Given the description of an element on the screen output the (x, y) to click on. 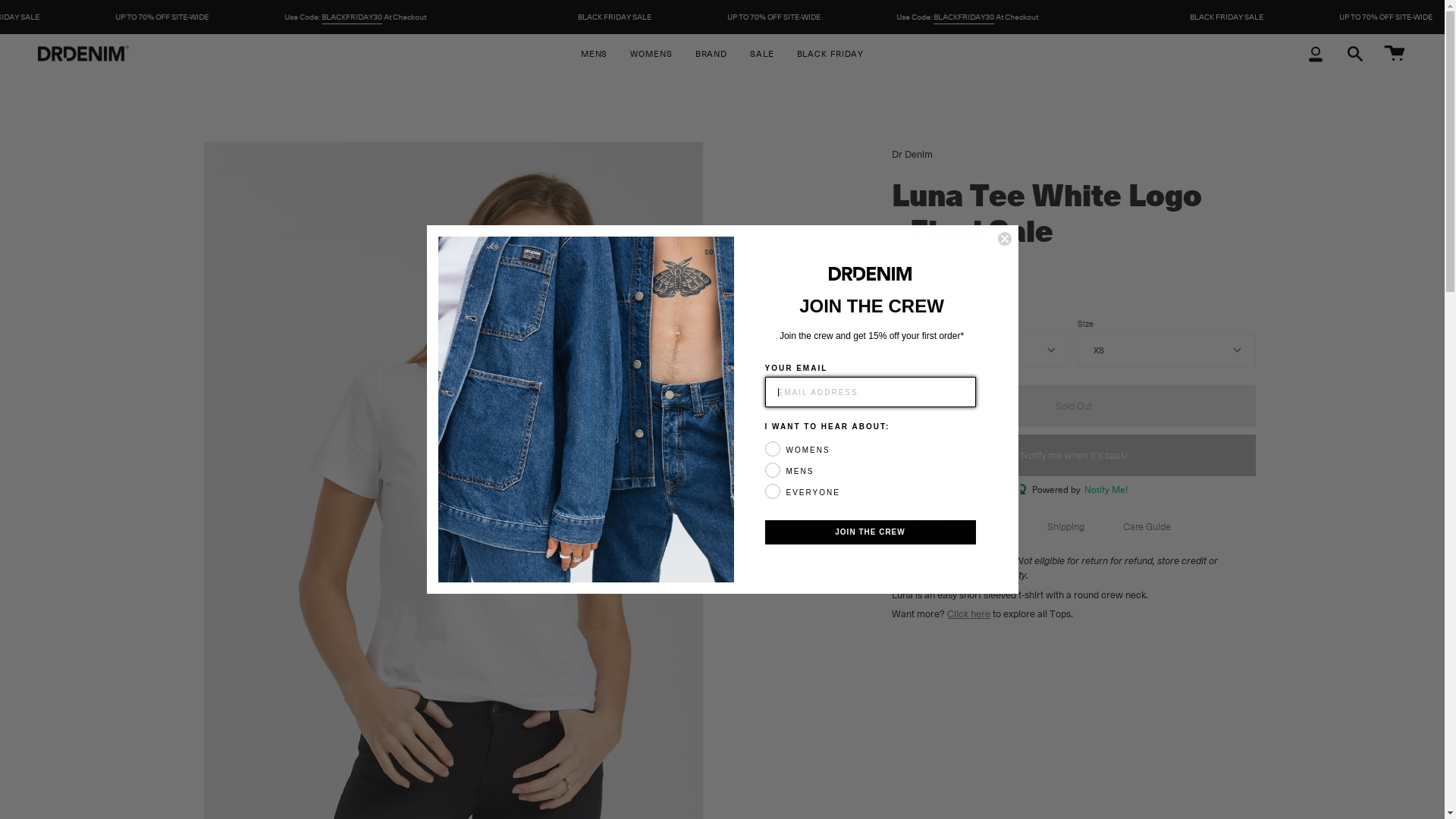
WOMENS Element type: text (650, 53)
MENS Element type: text (594, 53)
Women's Size Guide Element type: text (935, 295)
Sold Out Element type: text (1073, 405)
BRAND Element type: text (711, 53)
Cart Element type: text (1394, 53)
SALE Element type: text (761, 53)
BLACK FRIDAY Element type: text (830, 53)
Search Element type: text (1354, 53)
Click here Element type: text (968, 612)
BLACKFRIDAY30 Element type: text (1107, 16)
WhtLog Element type: text (980, 350)
My Account Element type: text (1315, 53)
Notify Me! Element type: text (1103, 489)
Notify me when it's back! Element type: text (1073, 455)
XS Element type: text (1166, 350)
BLACKFRIDAY30 Element type: text (495, 16)
